Given the description of an element on the screen output the (x, y) to click on. 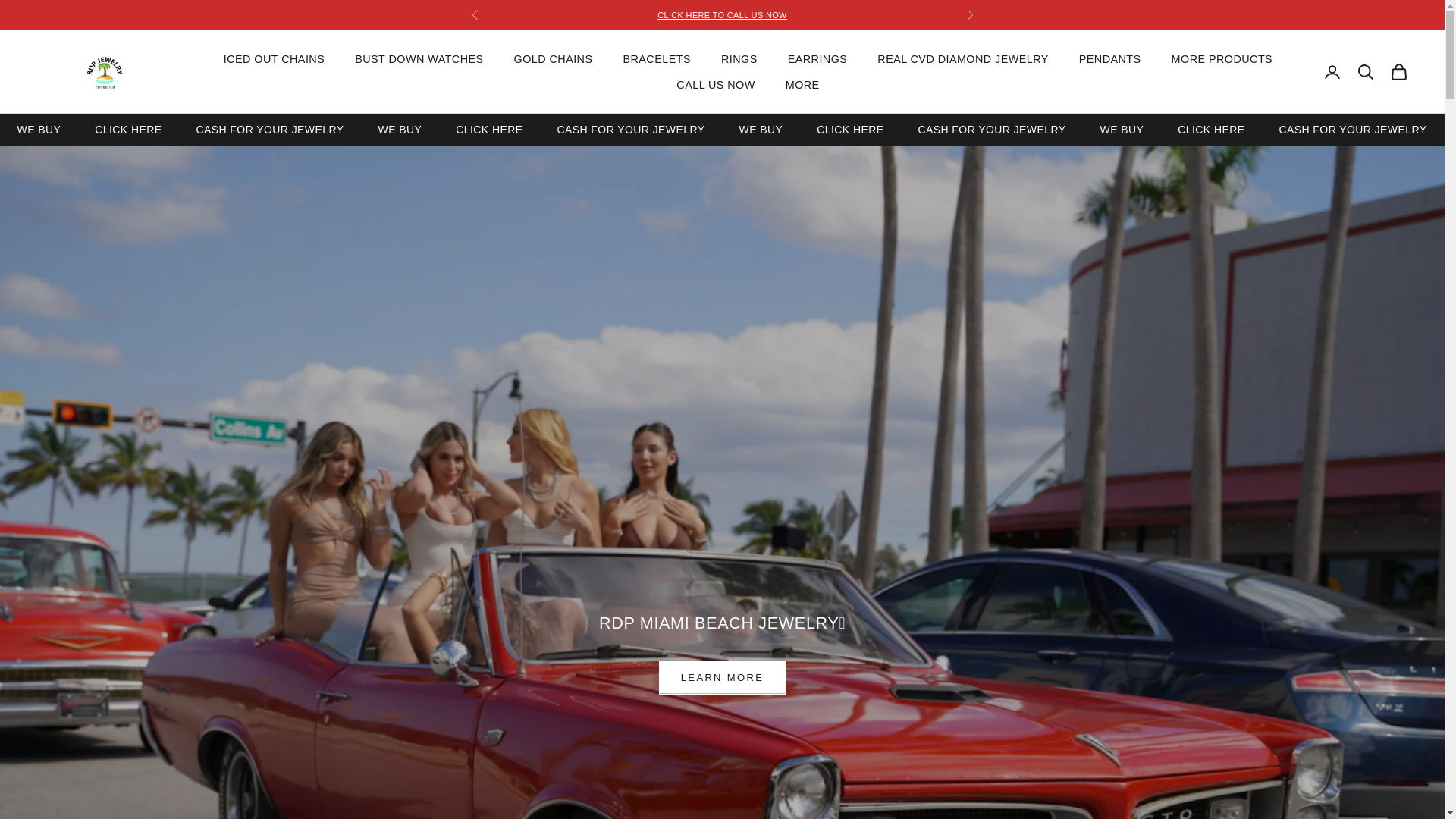
CASH FOR YOUR JEWELRY (902, 129)
CLICK HERE (180, 129)
WE BUY (1352, 129)
RDP Miami Beach Jewelry (127, 129)
CLICK HERE (38, 129)
CASH FOR YOUR JEWELRY (104, 72)
CASH FOR YOUR JEWELRY (541, 129)
